Given the description of an element on the screen output the (x, y) to click on. 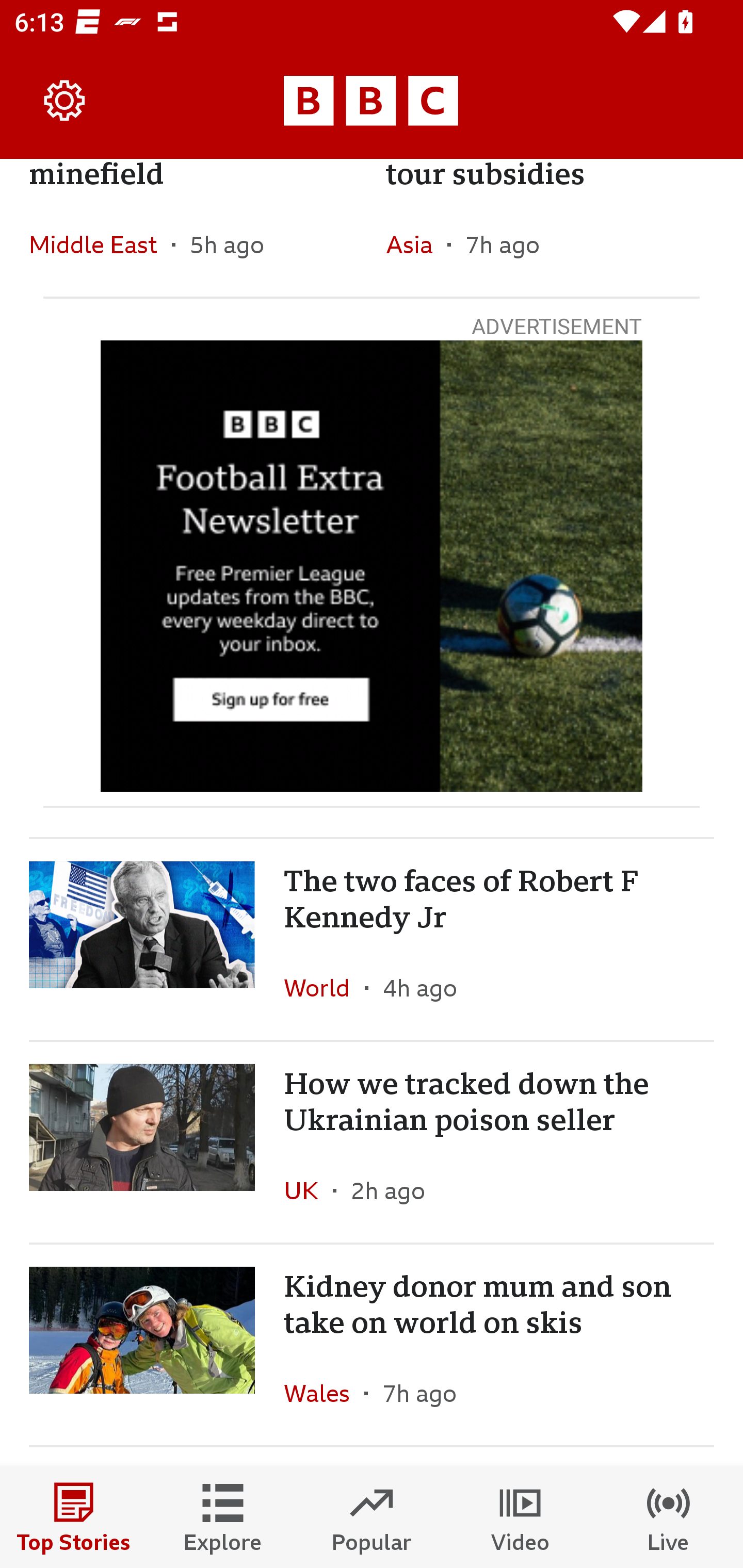
Settings (64, 100)
Middle East In the section Middle East (99, 244)
Asia In the section Asia (416, 244)
World In the section World (323, 987)
UK In the section UK (307, 1189)
Wales In the section Wales (323, 1392)
Explore (222, 1517)
Popular (371, 1517)
Video (519, 1517)
Live (668, 1517)
